Given the description of an element on the screen output the (x, y) to click on. 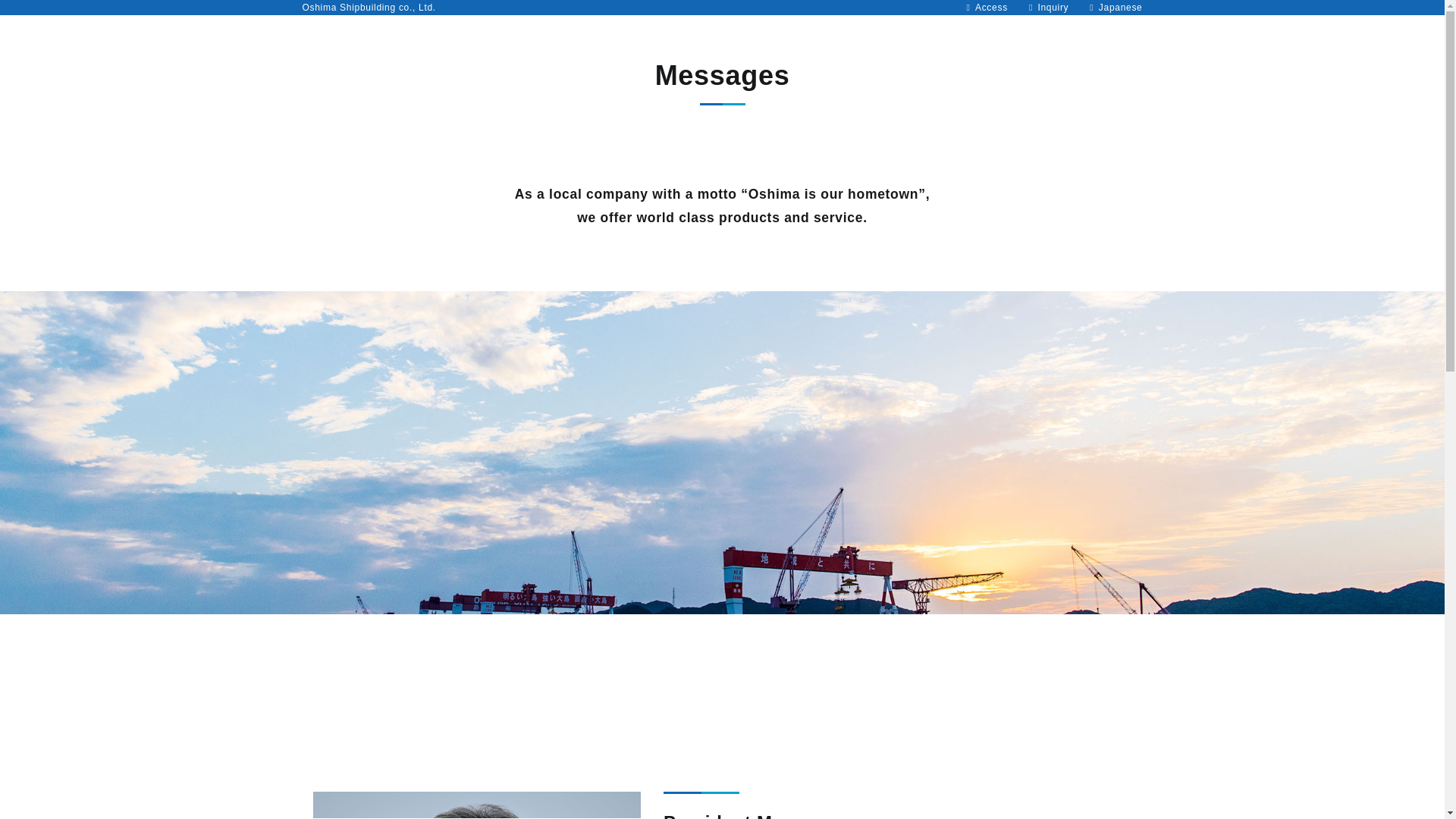
Japanese (1120, 7)
Inquiry (1052, 7)
Access (991, 7)
